Given the description of an element on the screen output the (x, y) to click on. 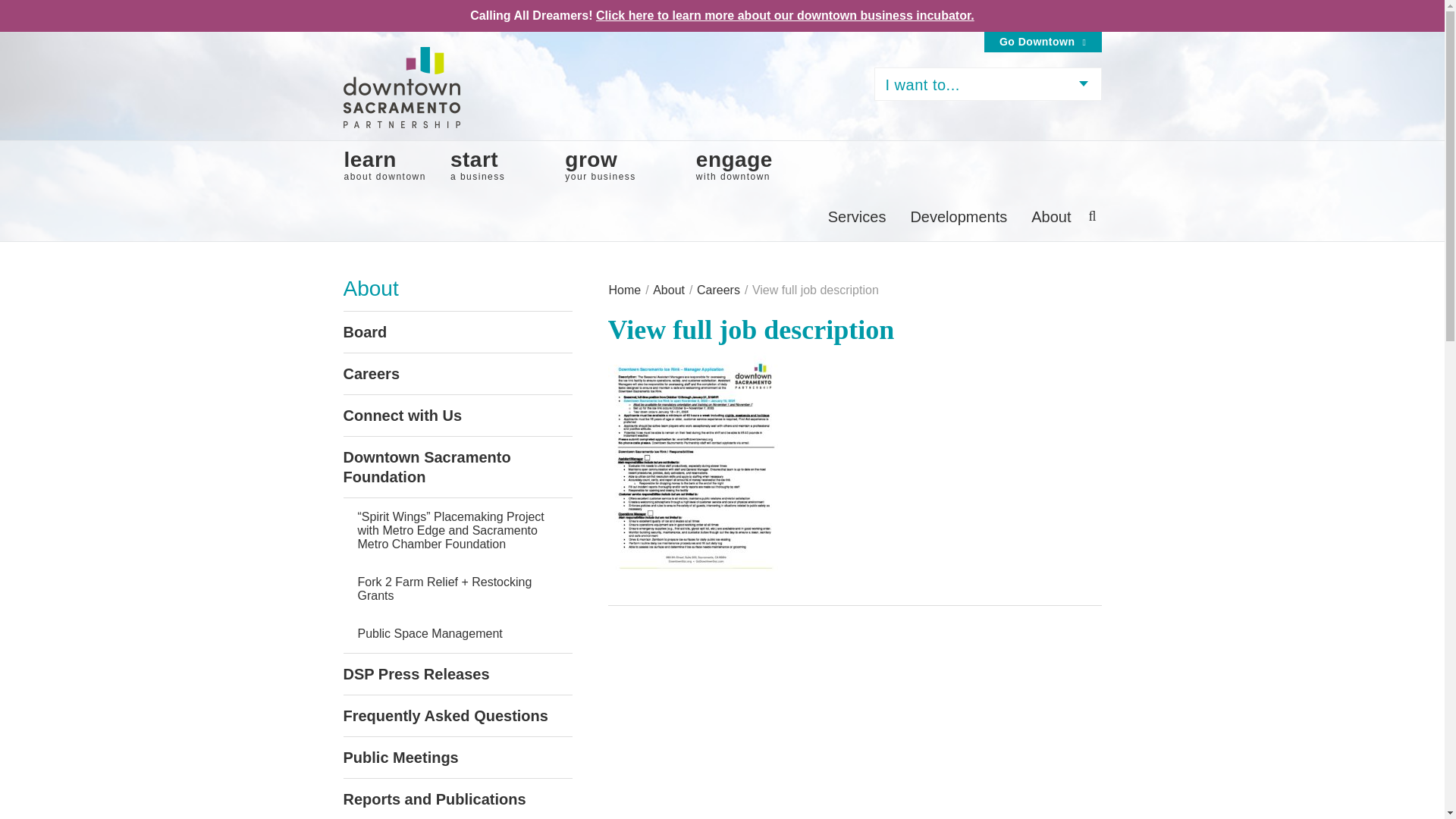
I want to... (600, 165)
Go Downtown (384, 165)
